Given the description of an element on the screen output the (x, y) to click on. 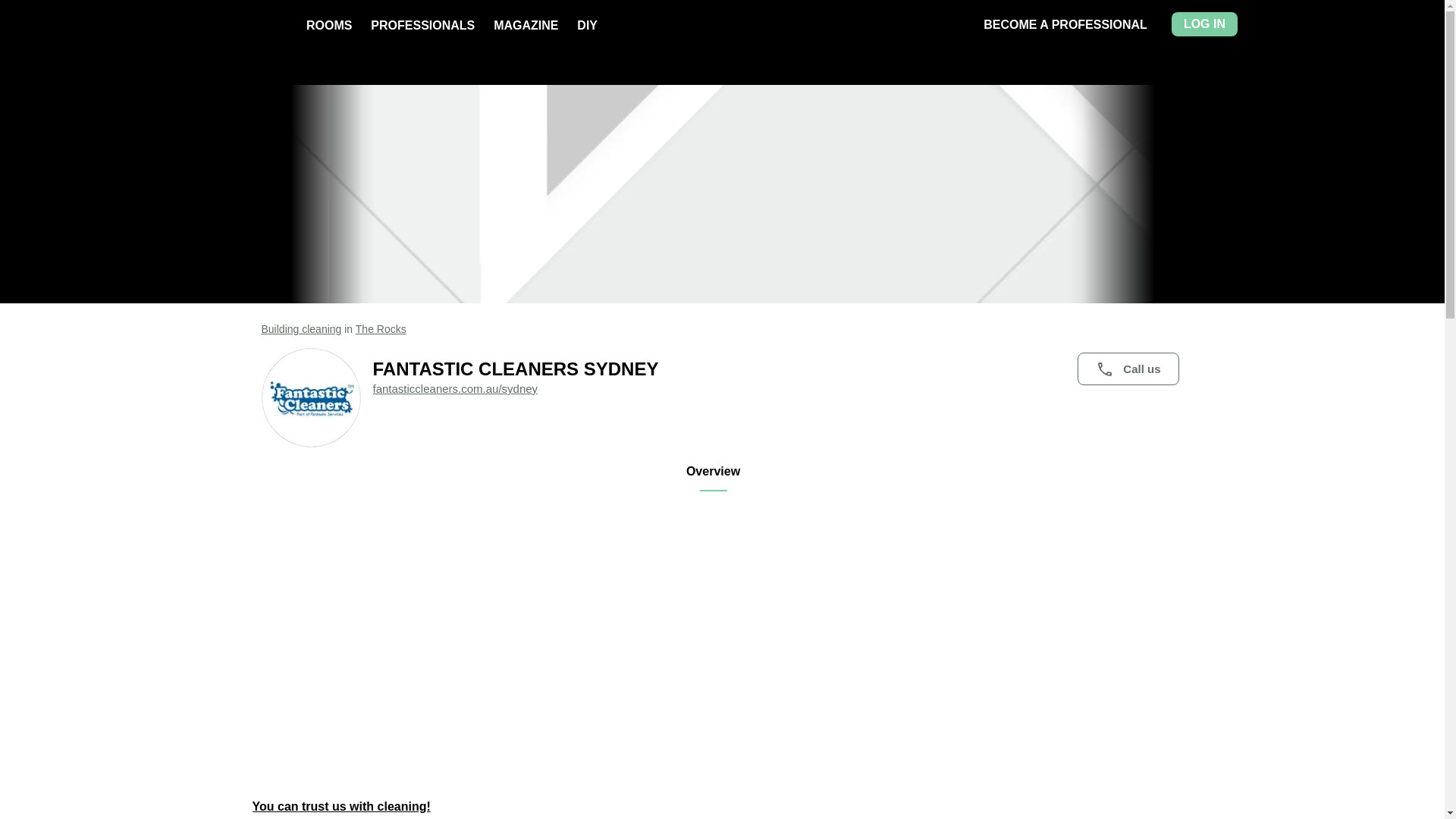
Overview (712, 476)
ROOMS (328, 25)
LOG IN (1204, 24)
DIY (586, 25)
PROFESSIONALS (422, 25)
BECOME A PROFESSIONAL (1064, 23)
The Rocks (380, 328)
Call us (1127, 368)
FANTASTIC CLEANERS SYDNEY (777, 368)
